Given the description of an element on the screen output the (x, y) to click on. 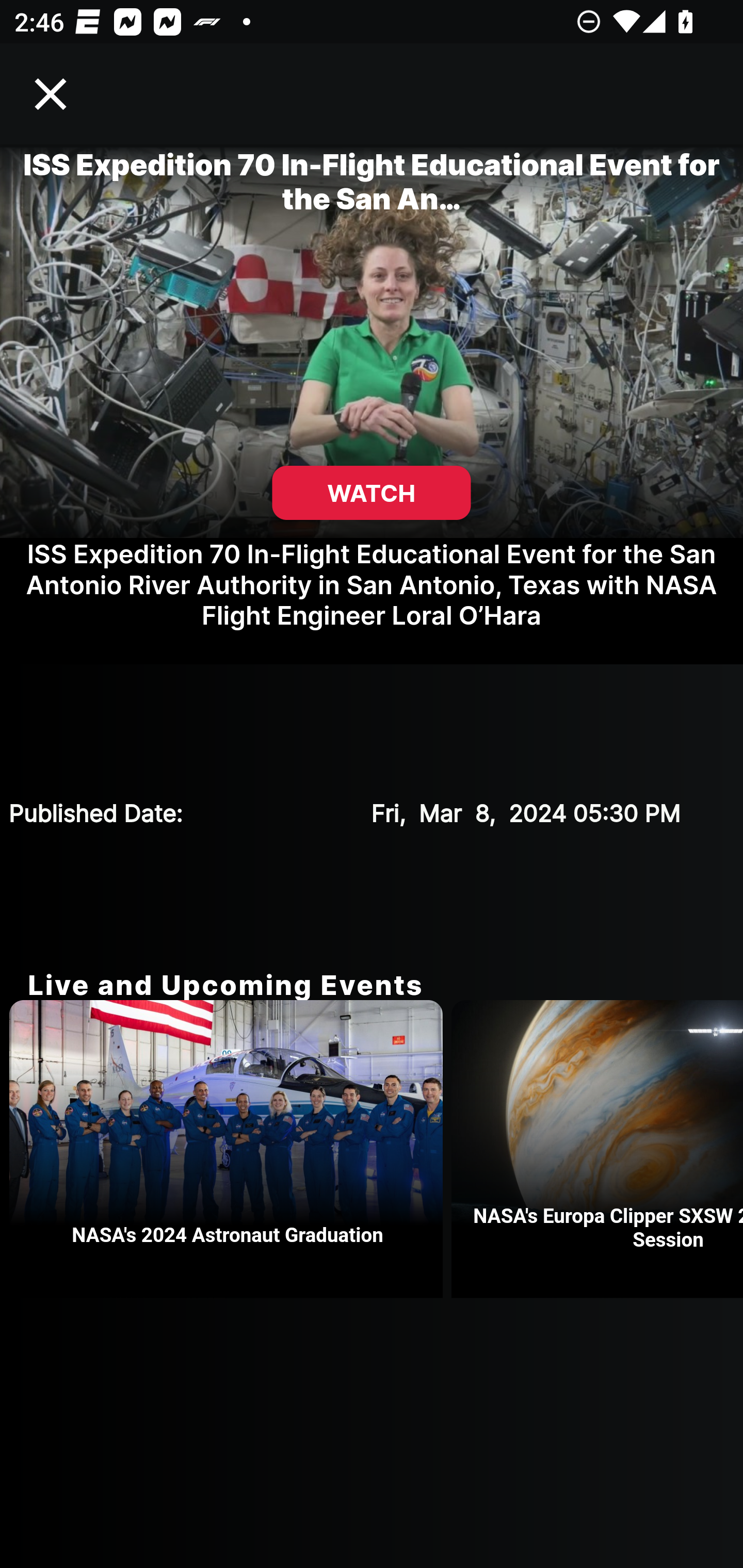
WATCH (371, 492)
NASA's 2024 Astronaut Graduation (229, 1149)
NASA's Europa Clipper SXSW 2024 Opening Session (597, 1149)
